Given the description of an element on the screen output the (x, y) to click on. 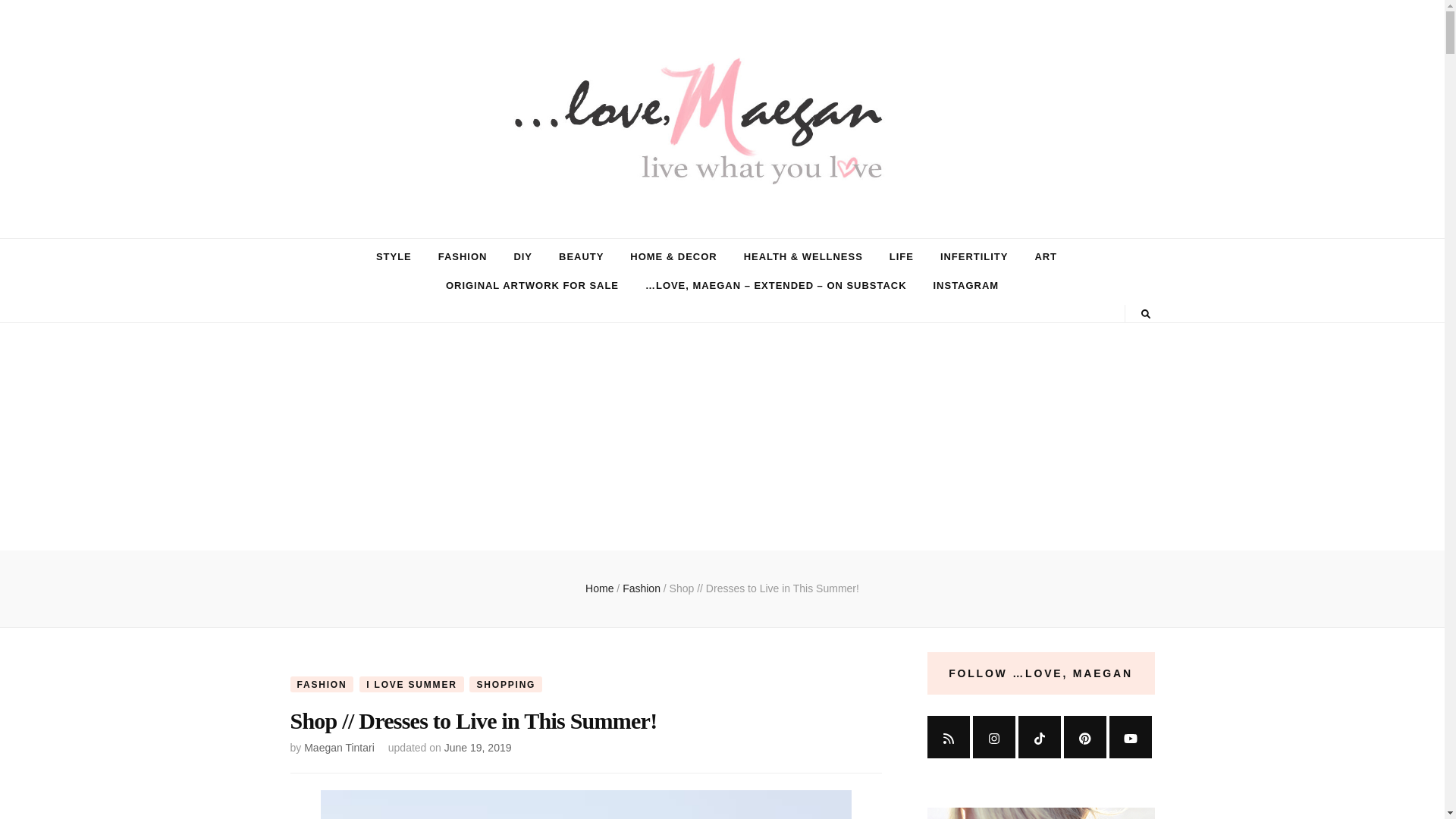
STYLE (393, 256)
BEAUTY (581, 256)
INSTAGRAM (965, 285)
LIFE (901, 256)
ORIGINAL ARTWORK FOR SALE (531, 285)
Maegan Tintari (339, 747)
Fashion (643, 588)
Home (598, 588)
ART (1045, 256)
June 19, 2019 (478, 747)
INFERTILITY (973, 256)
FASHION (462, 256)
I LOVE SUMMER (411, 683)
FASHION (321, 683)
